Given the description of an element on the screen output the (x, y) to click on. 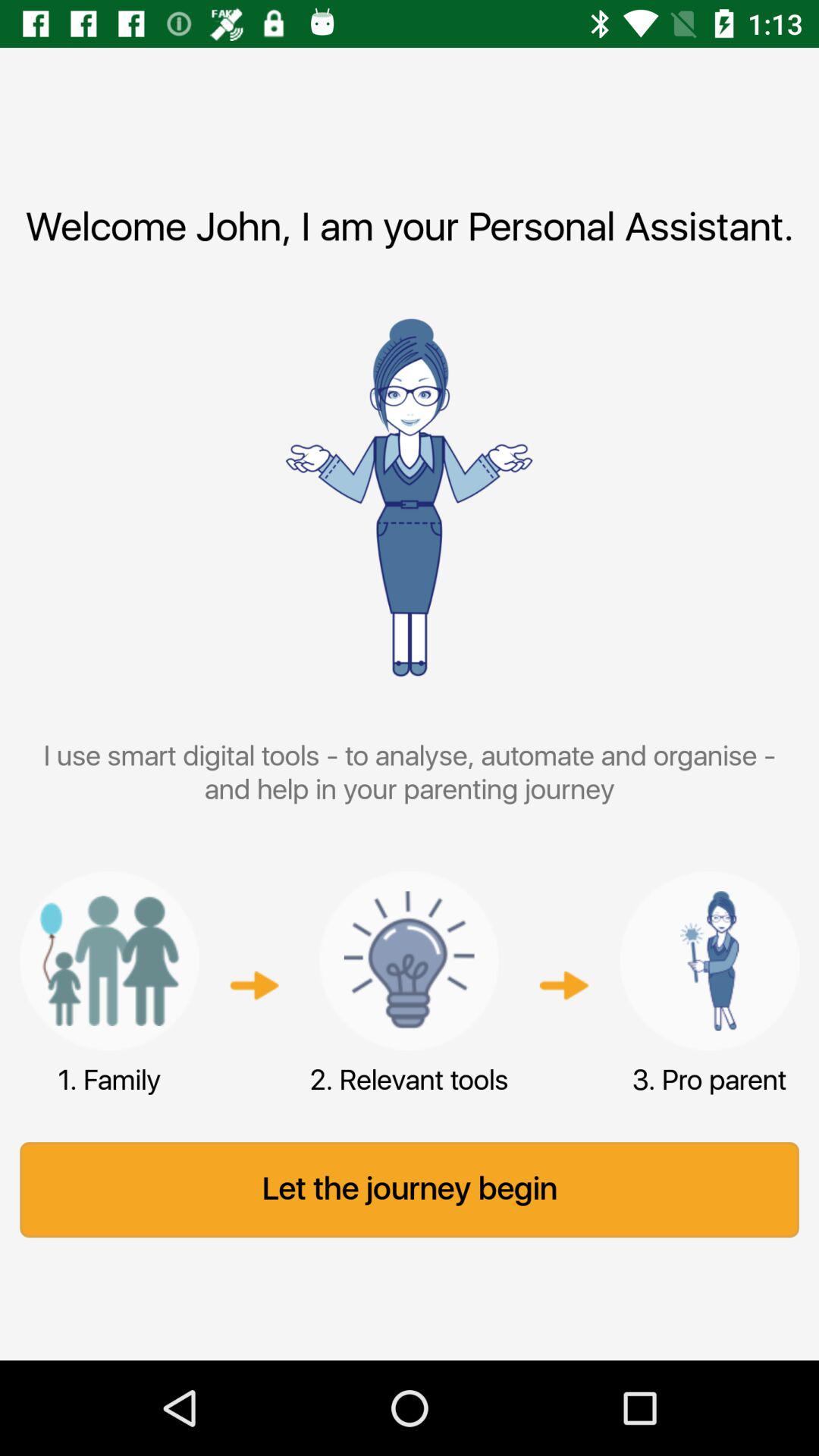
turn on the icon below 1. family item (409, 1189)
